Given the description of an element on the screen output the (x, y) to click on. 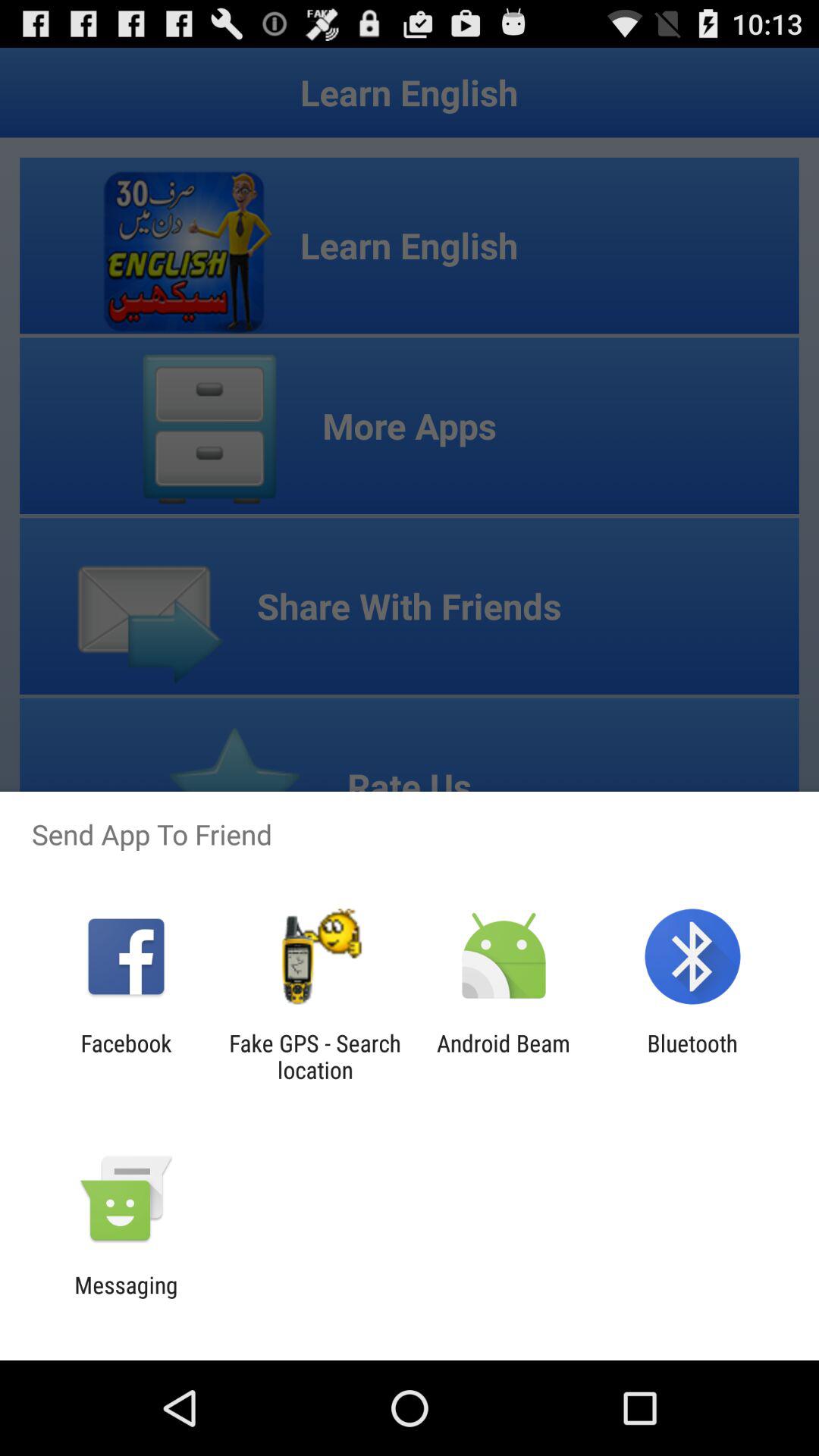
scroll until the bluetooth app (692, 1056)
